Given the description of an element on the screen output the (x, y) to click on. 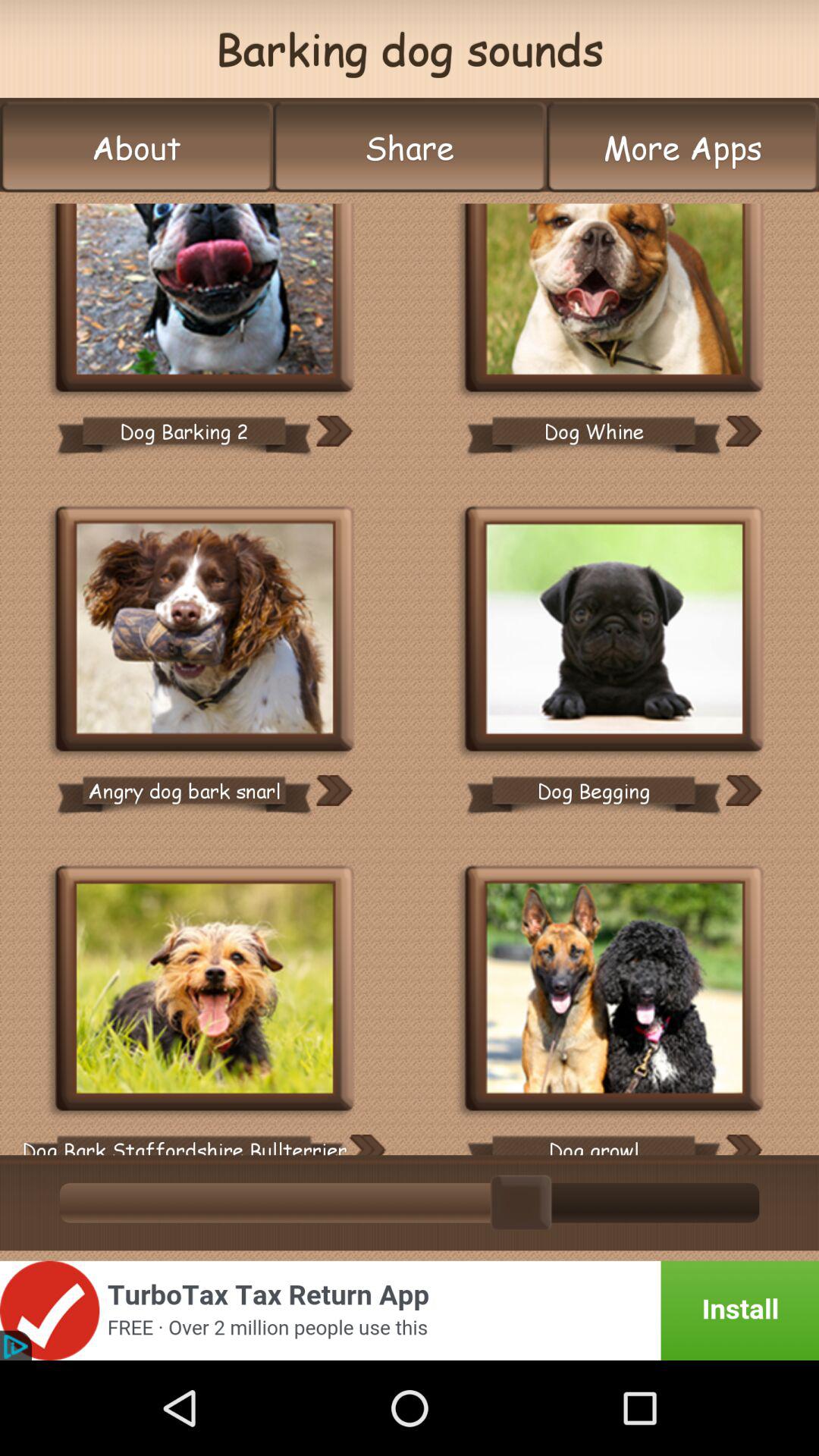
listen to dog begging (743, 790)
